Given the description of an element on the screen output the (x, y) to click on. 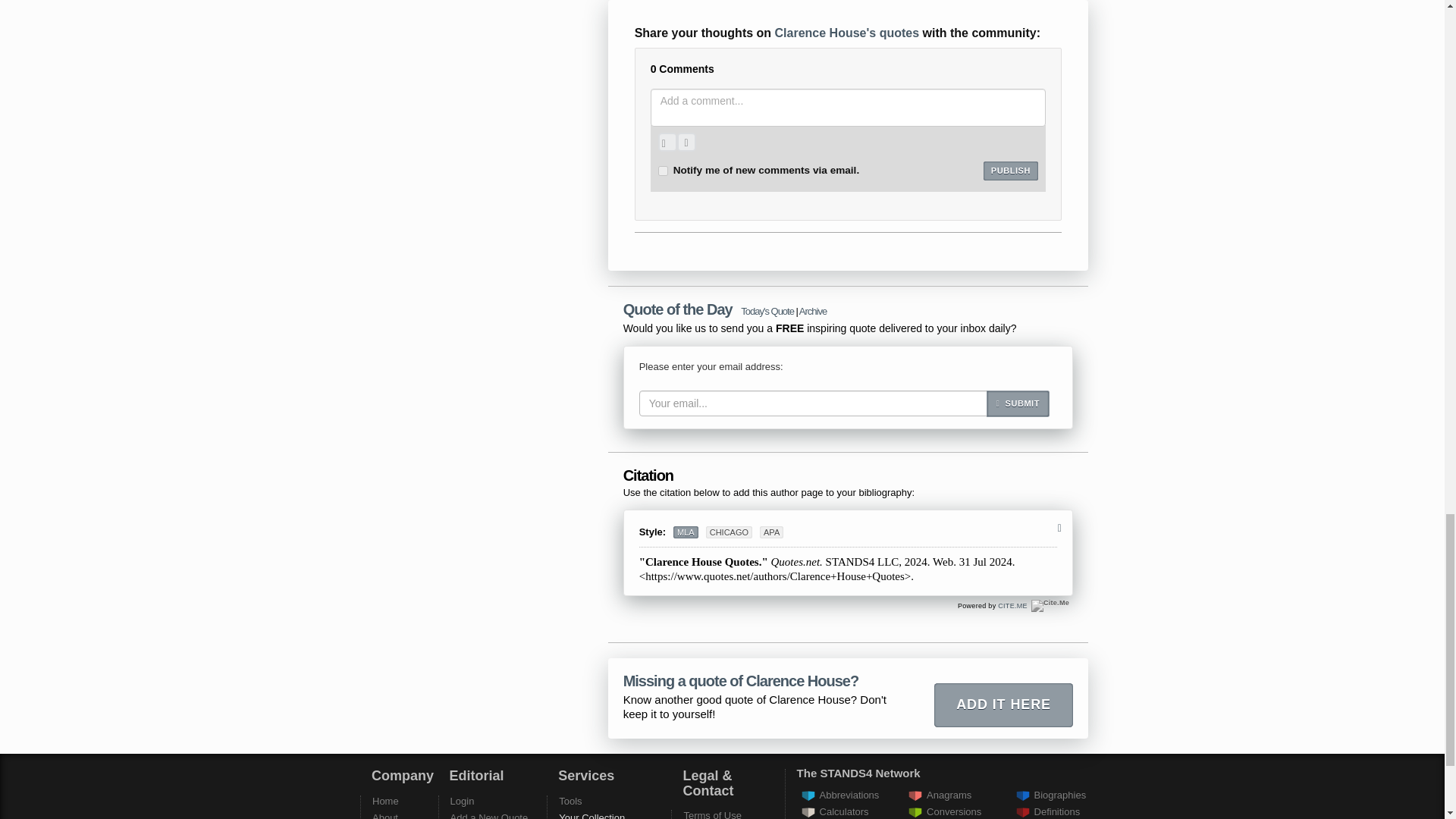
Cite.Me (1012, 605)
Cite.Me (1049, 605)
Cite.Me (1050, 605)
Upload an image (667, 141)
Record a sound (686, 141)
on (663, 171)
